Given the description of an element on the screen output the (x, y) to click on. 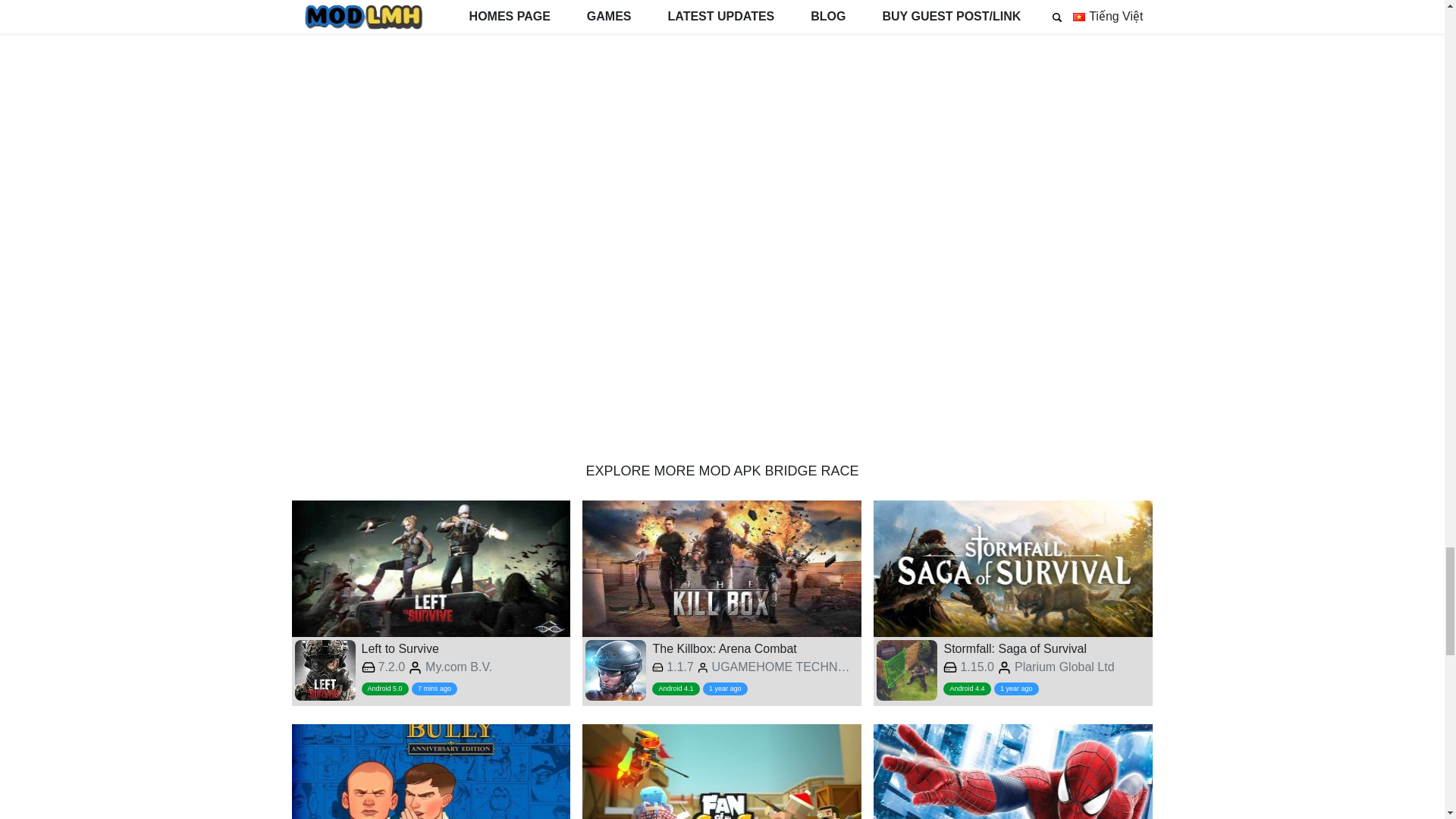
The Killbox: Arena Combat 1.1.7  Menu, Unlimited money (721, 602)
Bully: Anniversary Edition 1.0.0.18  Menu, Unlimited Money (430, 771)
